Given the description of an element on the screen output the (x, y) to click on. 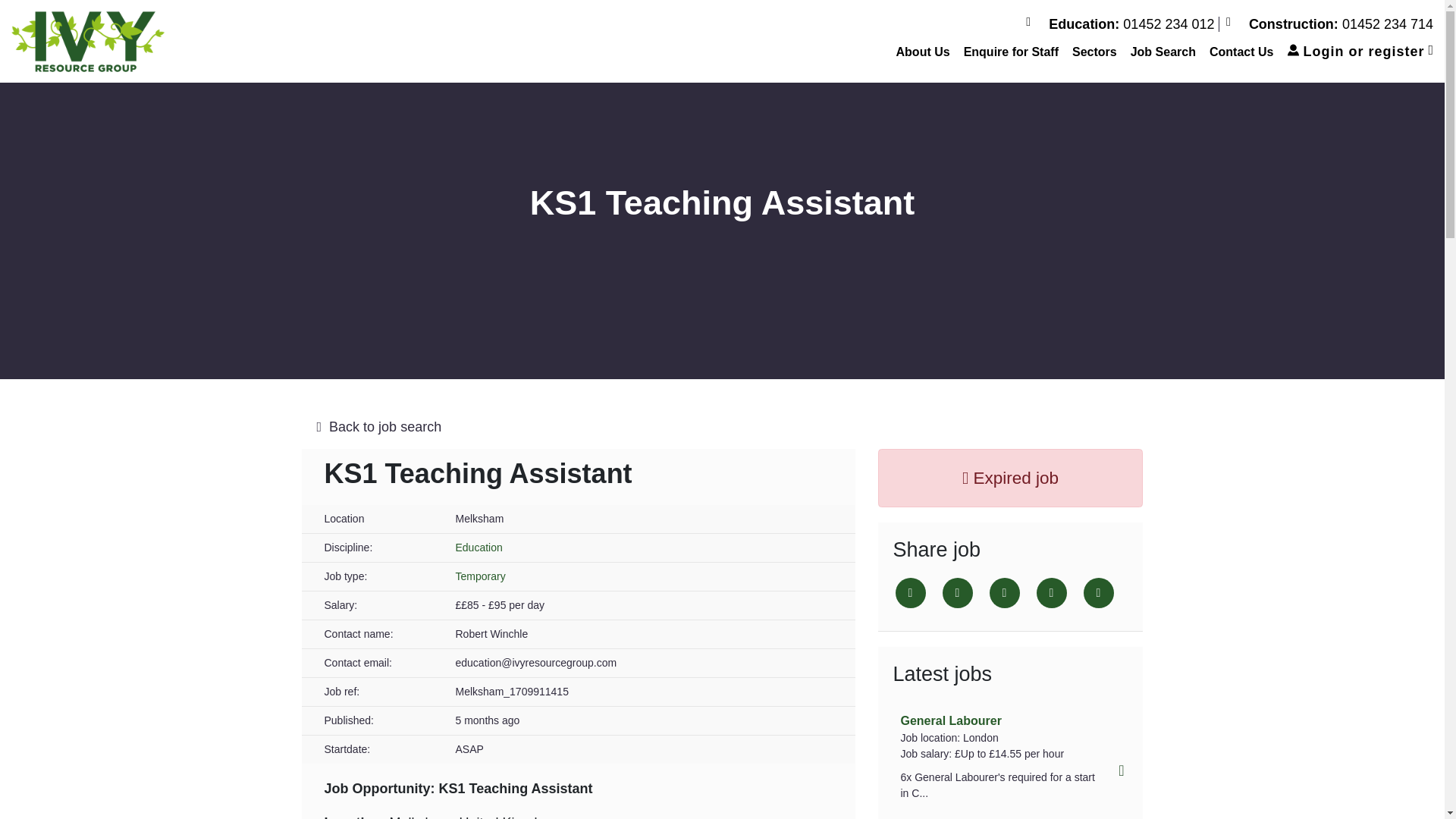
Enquire for Staff (1010, 51)
Tweet this (909, 593)
About Us (922, 51)
share on Facebook (957, 593)
Sectors (1094, 51)
Education: 01452 234 012 (1123, 23)
send in Whatsapp (1098, 593)
Construction: 01452 234 714 (1328, 23)
Email (1050, 593)
Contact Us (1240, 51)
share on LinkedIn (1003, 593)
Login or register (1359, 51)
Job Search (1163, 51)
